Given the description of an element on the screen output the (x, y) to click on. 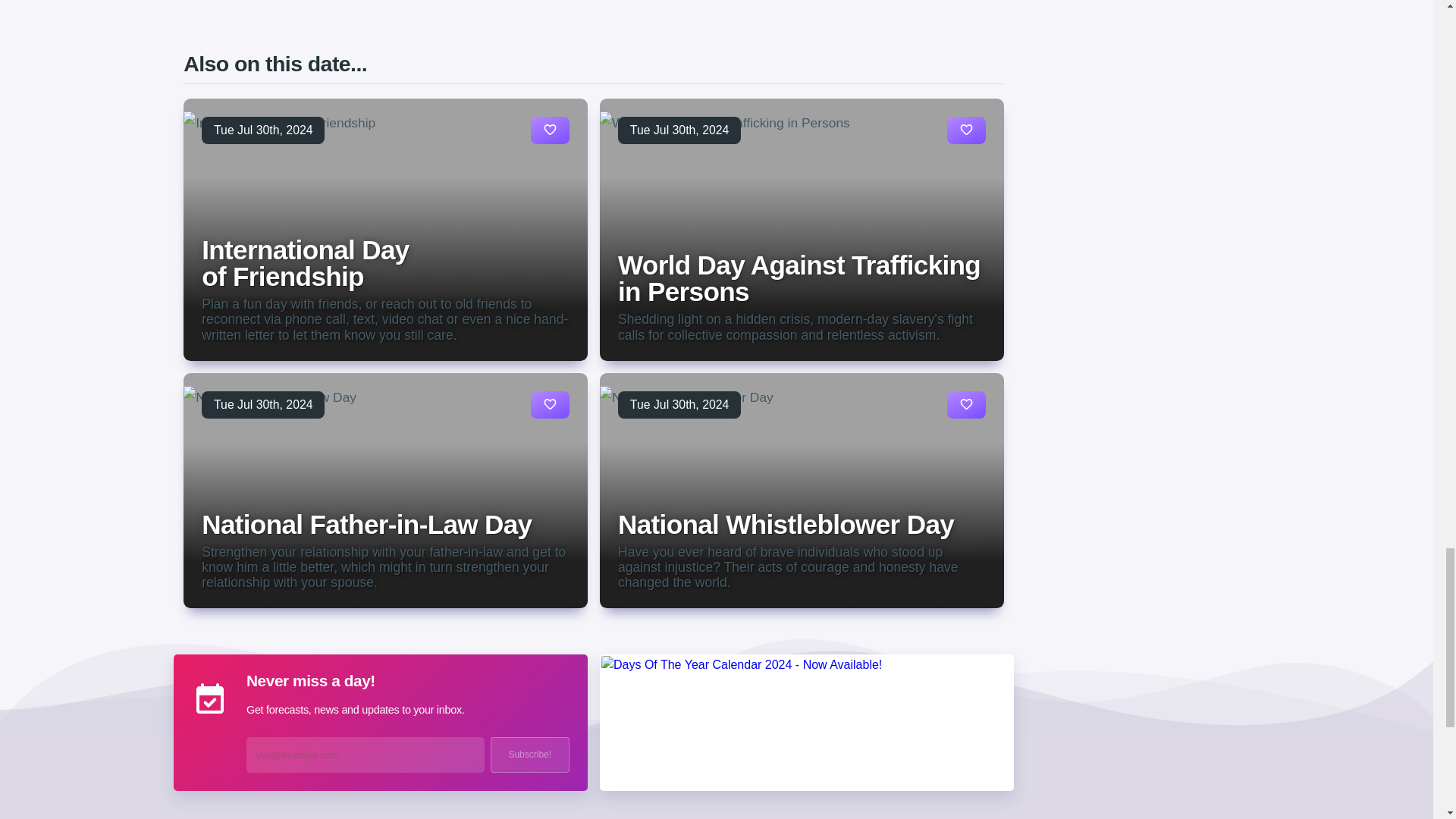
International Day of Friendship (305, 263)
National Father-in-Law Day (366, 523)
Subscribe! (529, 755)
National Whistleblower Day (785, 523)
World Day Against Trafficking in Persons (798, 278)
Subscribe! (529, 755)
